Given the description of an element on the screen output the (x, y) to click on. 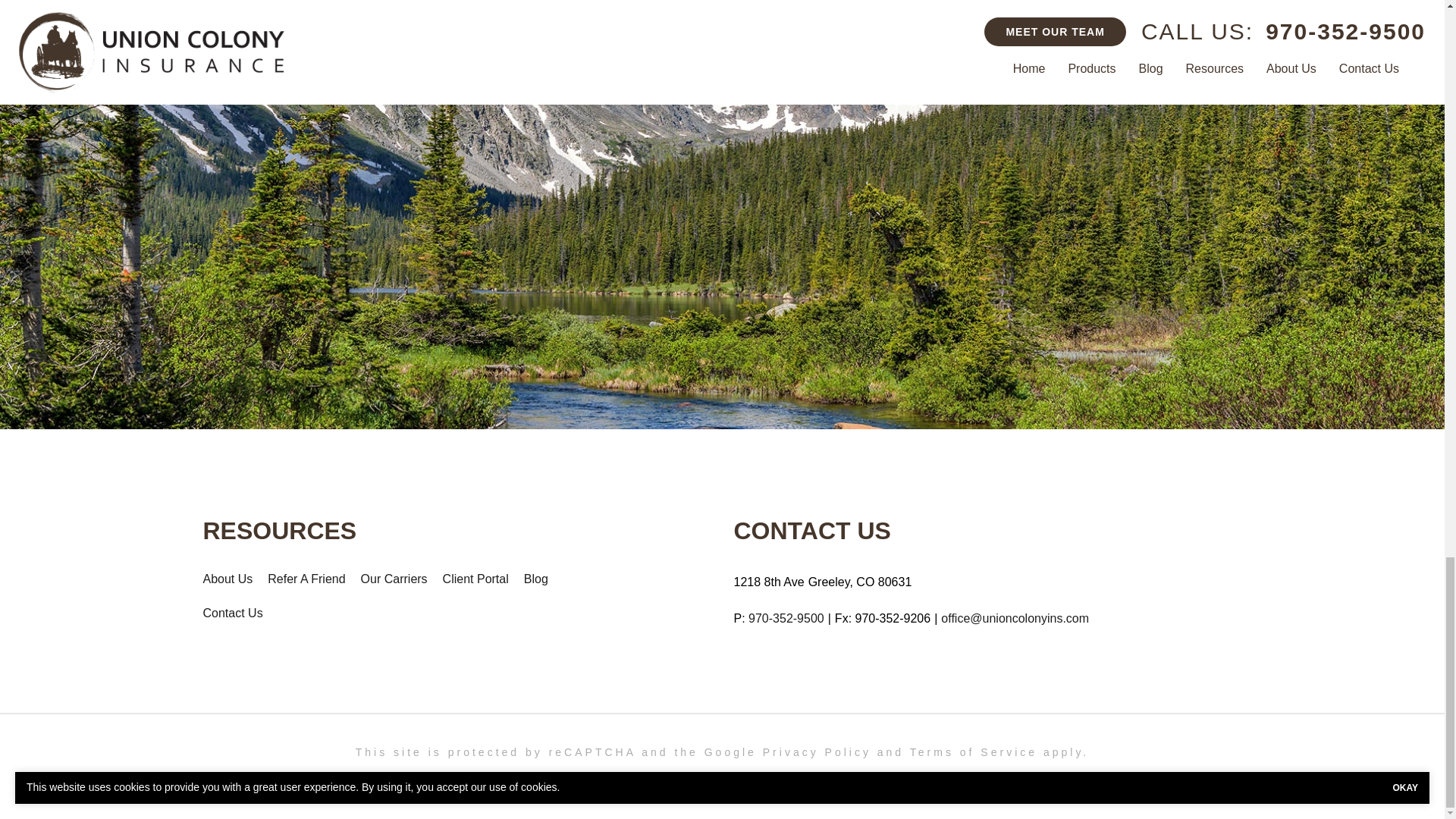
Insurance Website Builder (880, 779)
